Given the description of an element on the screen output the (x, y) to click on. 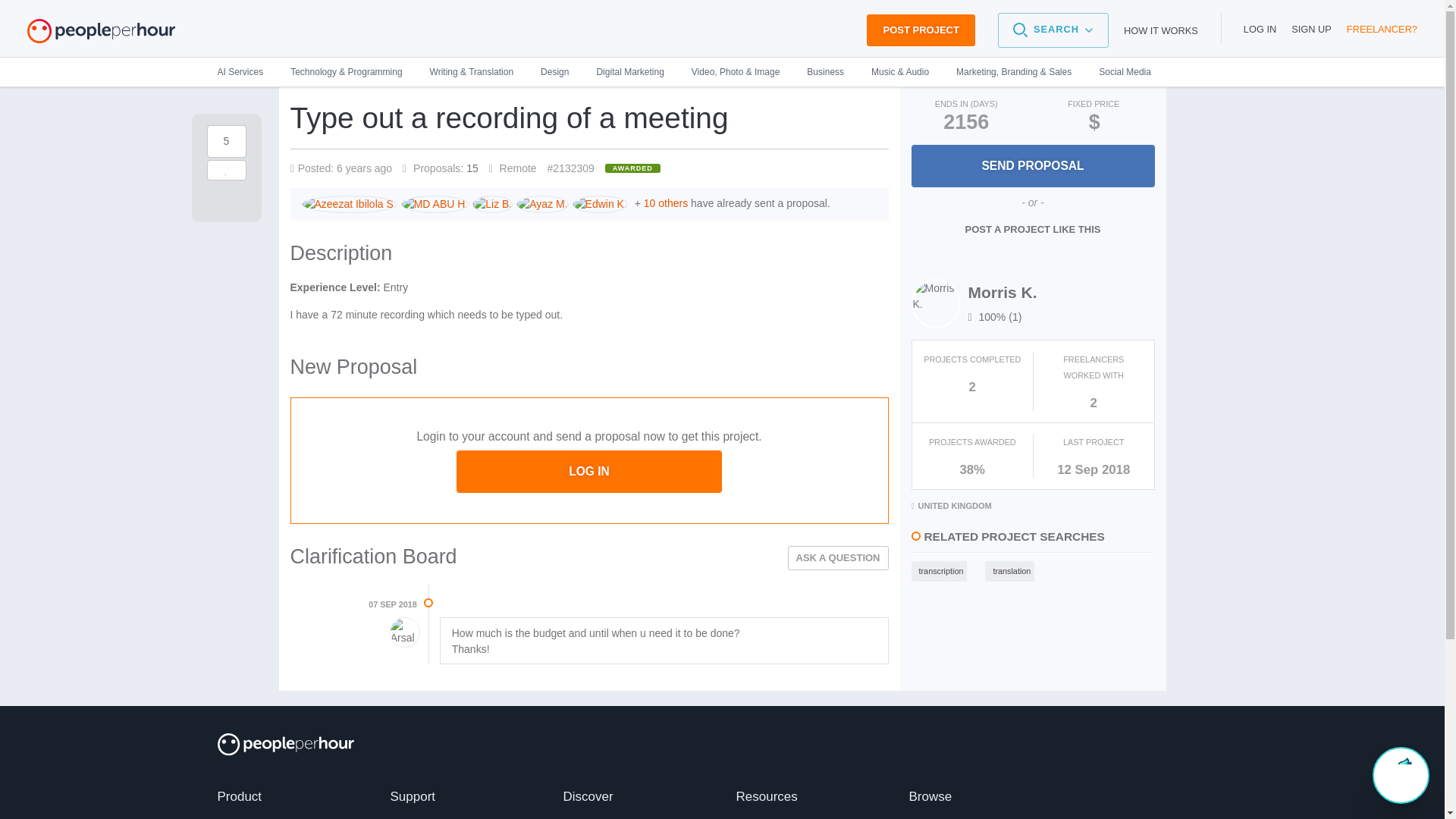
Social Media (1117, 71)
The project can be done remotely from any location (513, 168)
POST PROJECT (920, 29)
SIGN UP (1311, 28)
FREELANCER? (1381, 28)
Business (825, 71)
Digital Marketing (629, 71)
Become a freelancer (1381, 28)
Design (554, 71)
Send Proposal (1032, 165)
